Given the description of an element on the screen output the (x, y) to click on. 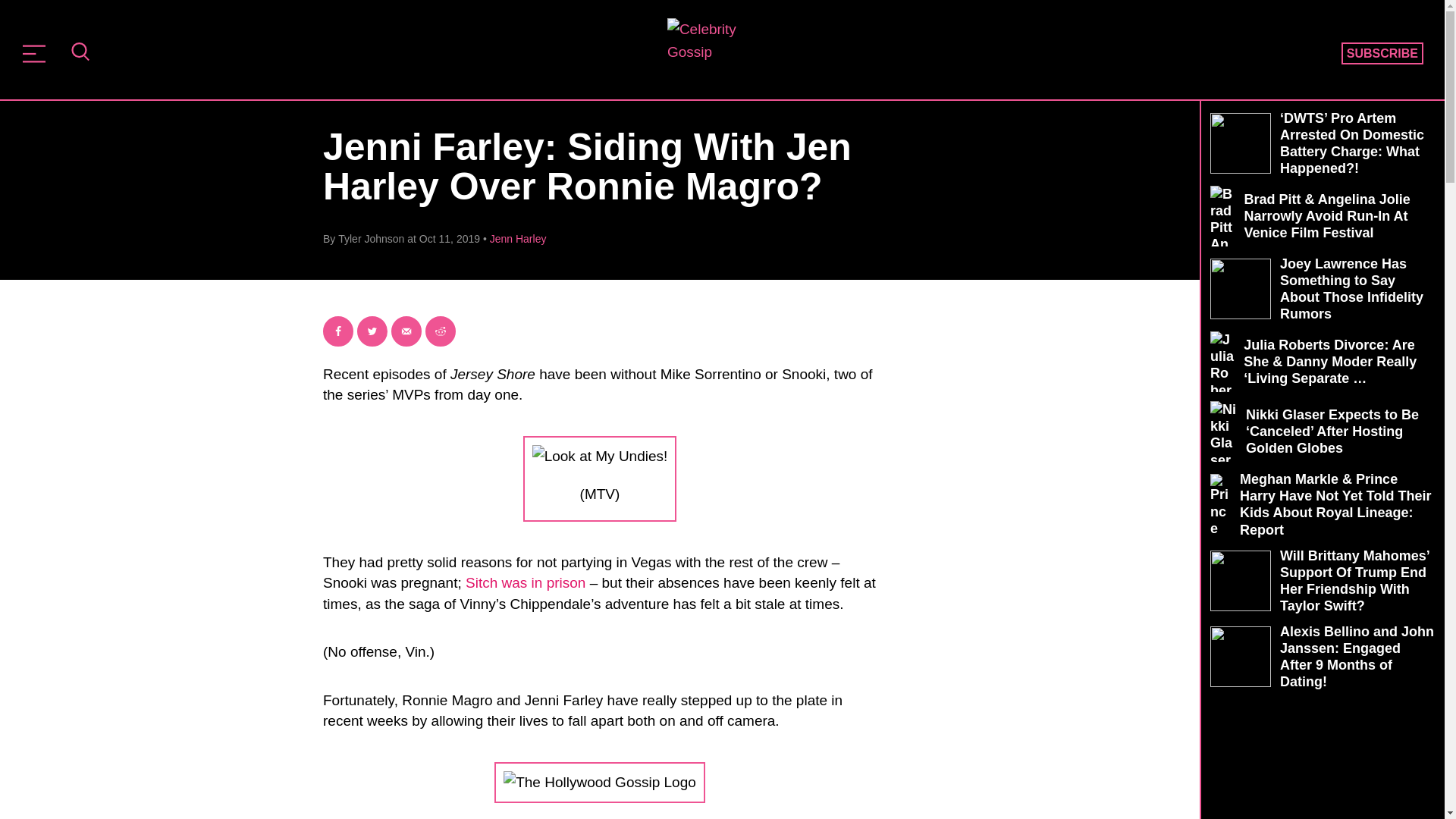
Tyler Johnson (370, 238)
Jenn Harley (518, 238)
Share on Twitter (371, 331)
SUBSCRIBE (1381, 53)
Share on Reddit (440, 331)
SEARCH (79, 53)
Send over email (406, 331)
The Hollywood Gossip (716, 48)
